Given the description of an element on the screen output the (x, y) to click on. 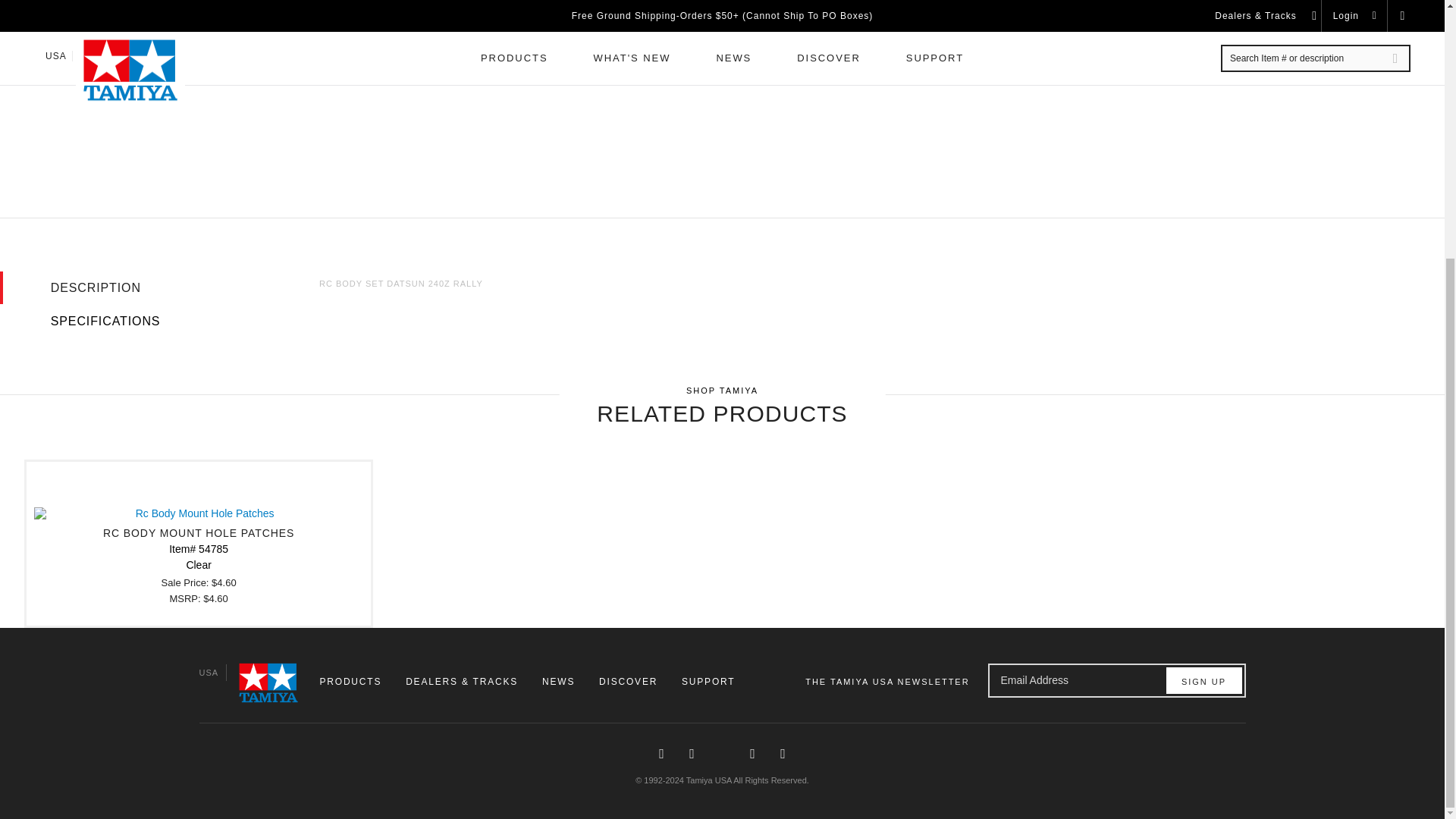
Sign Up (1203, 680)
View Rc Body Mount Hole Patches page (198, 543)
Rc Body Set Datsun 240Z Rally (282, 21)
View Tamiya USA's Instagram (691, 753)
View Tamiya USA's Facebook (660, 753)
Rc Body Set Datsun 240Z Rally (609, 101)
